Given the description of an element on the screen output the (x, y) to click on. 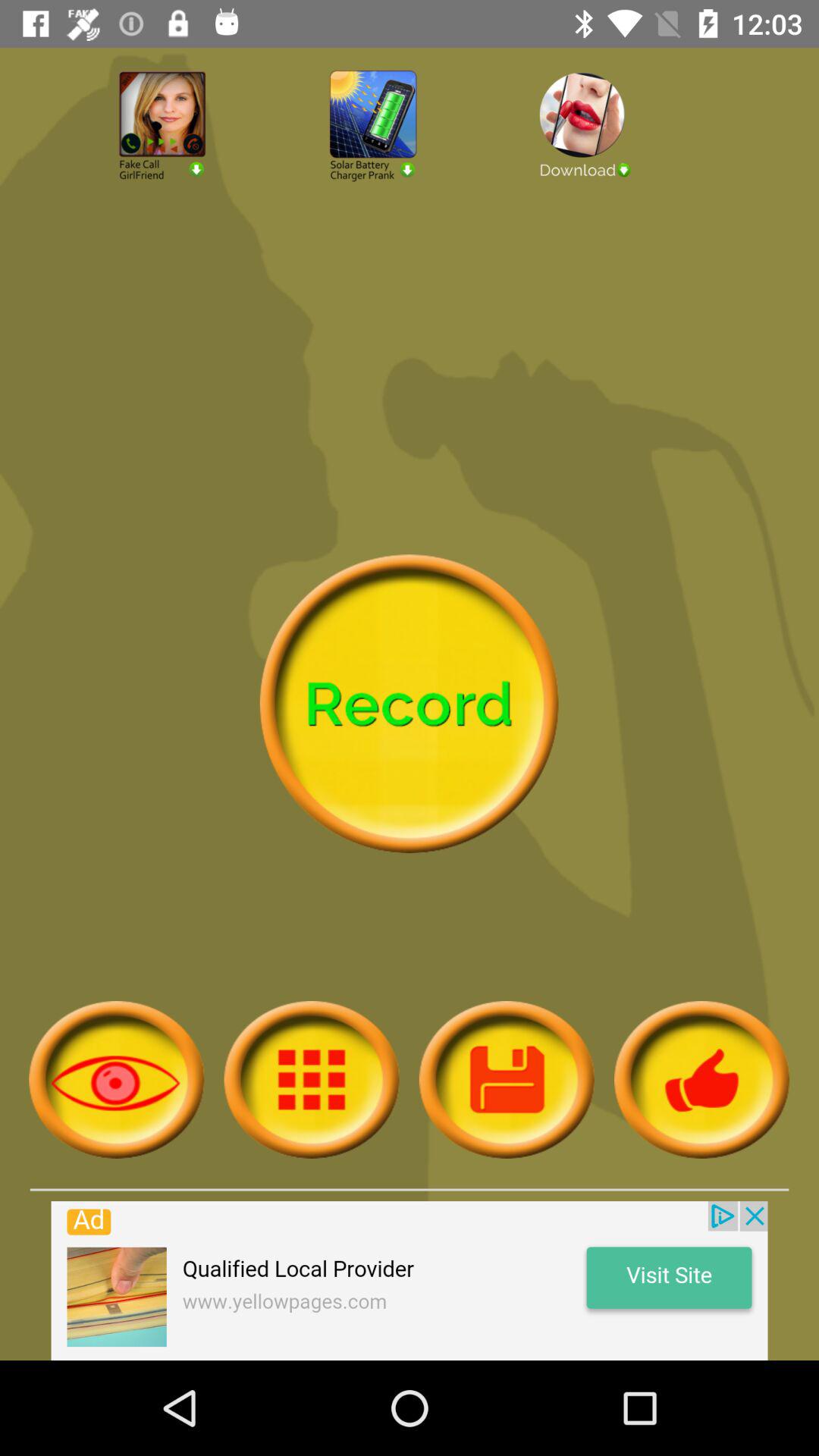
download file (619, 166)
